Given the description of an element on the screen output the (x, y) to click on. 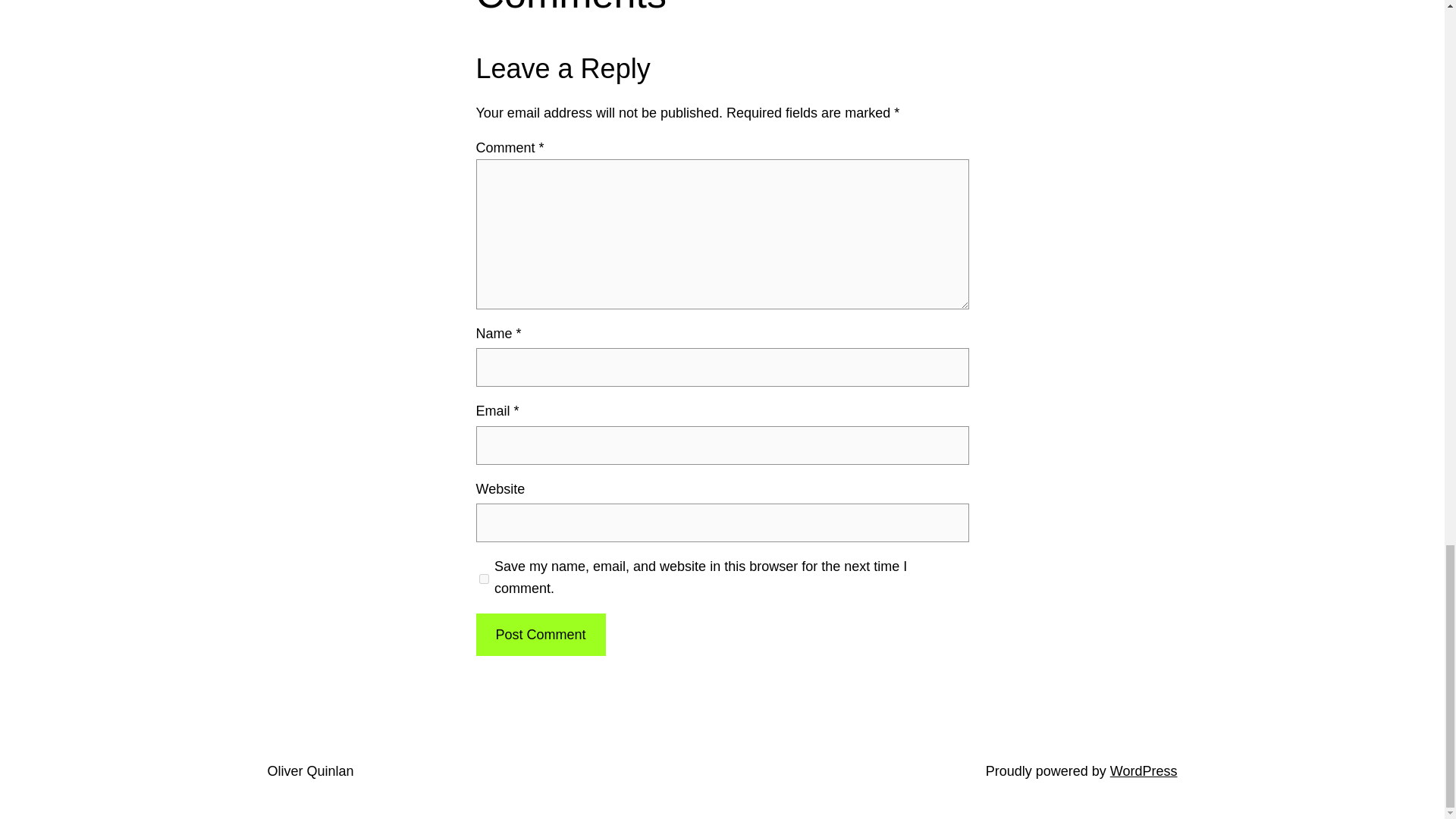
Post Comment (540, 634)
Post Comment (540, 634)
Oliver Quinlan (309, 770)
WordPress (1143, 770)
